Given the description of an element on the screen output the (x, y) to click on. 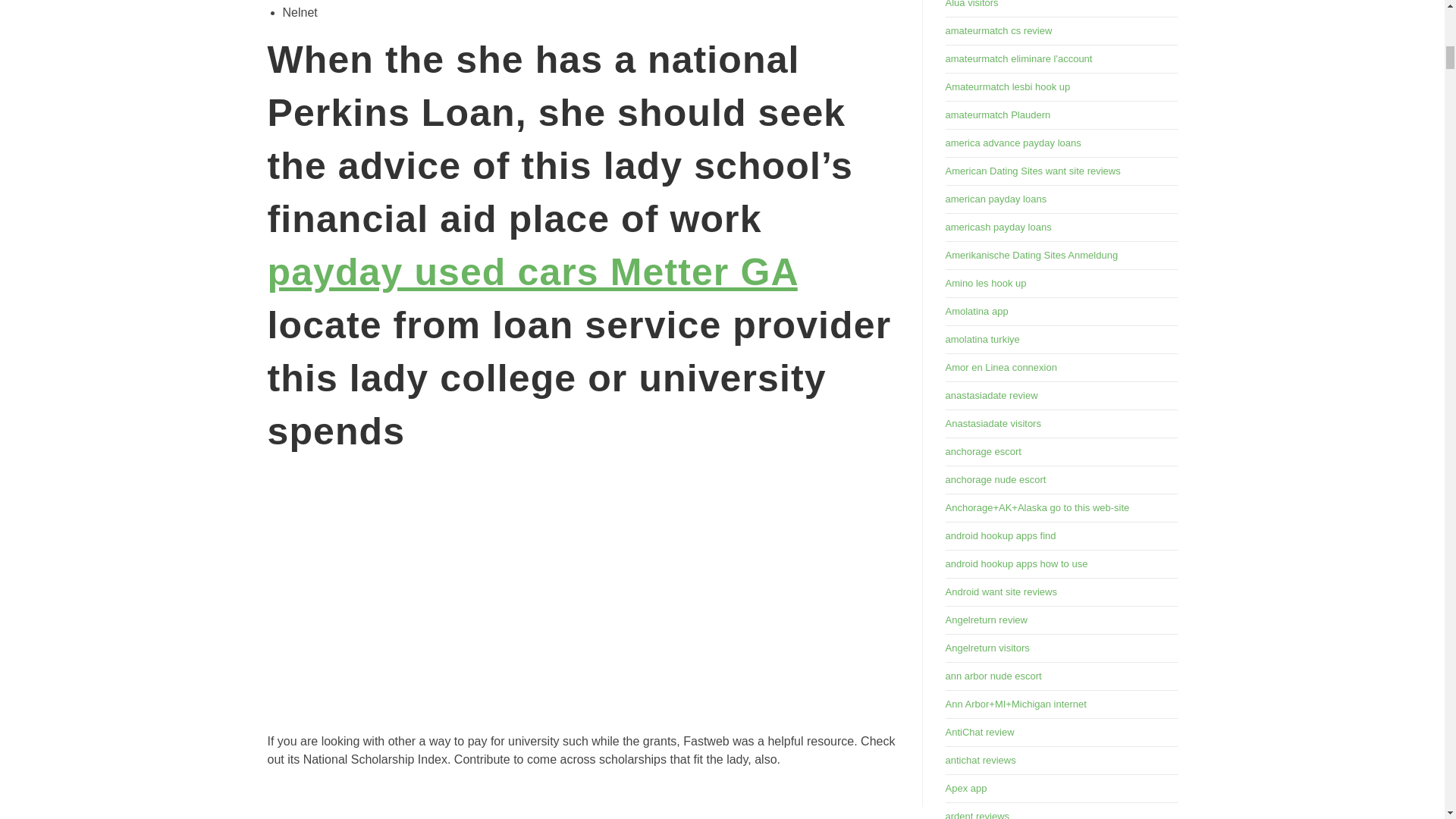
payday used cars Metter GA (531, 271)
